Given the description of an element on the screen output the (x, y) to click on. 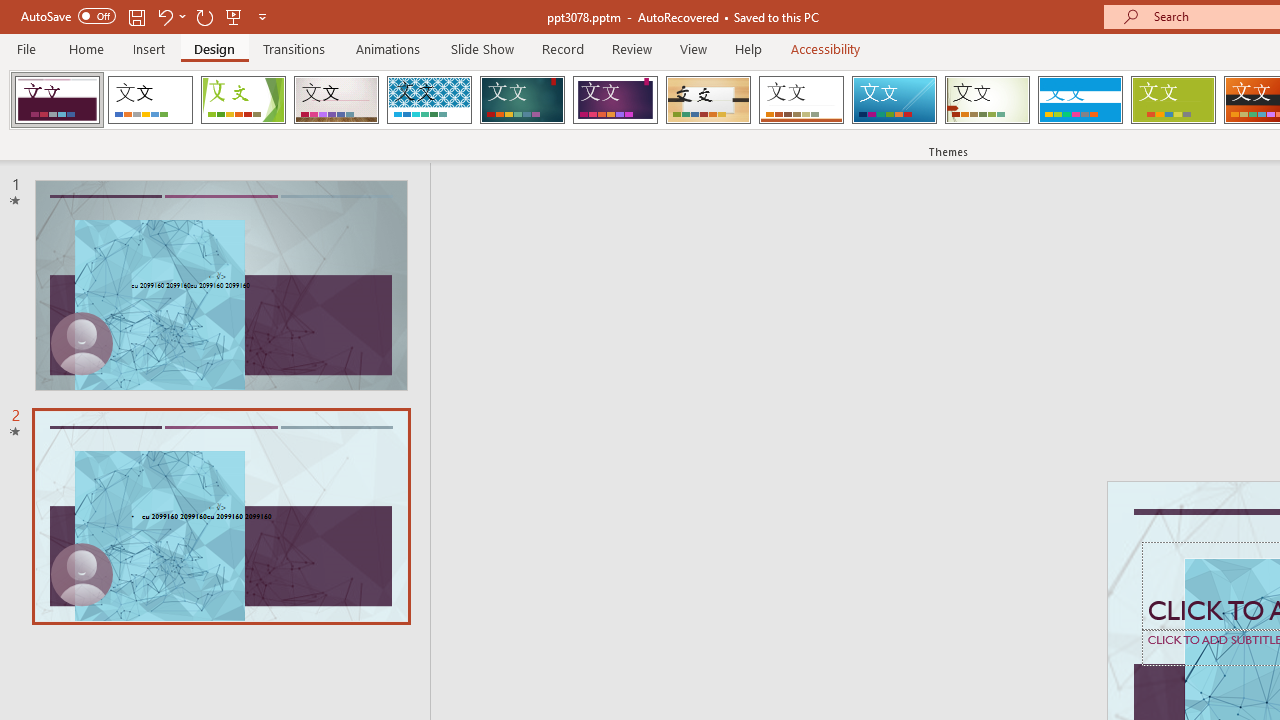
Ion Boardroom (615, 100)
Office Theme (150, 100)
